Given the description of an element on the screen output the (x, y) to click on. 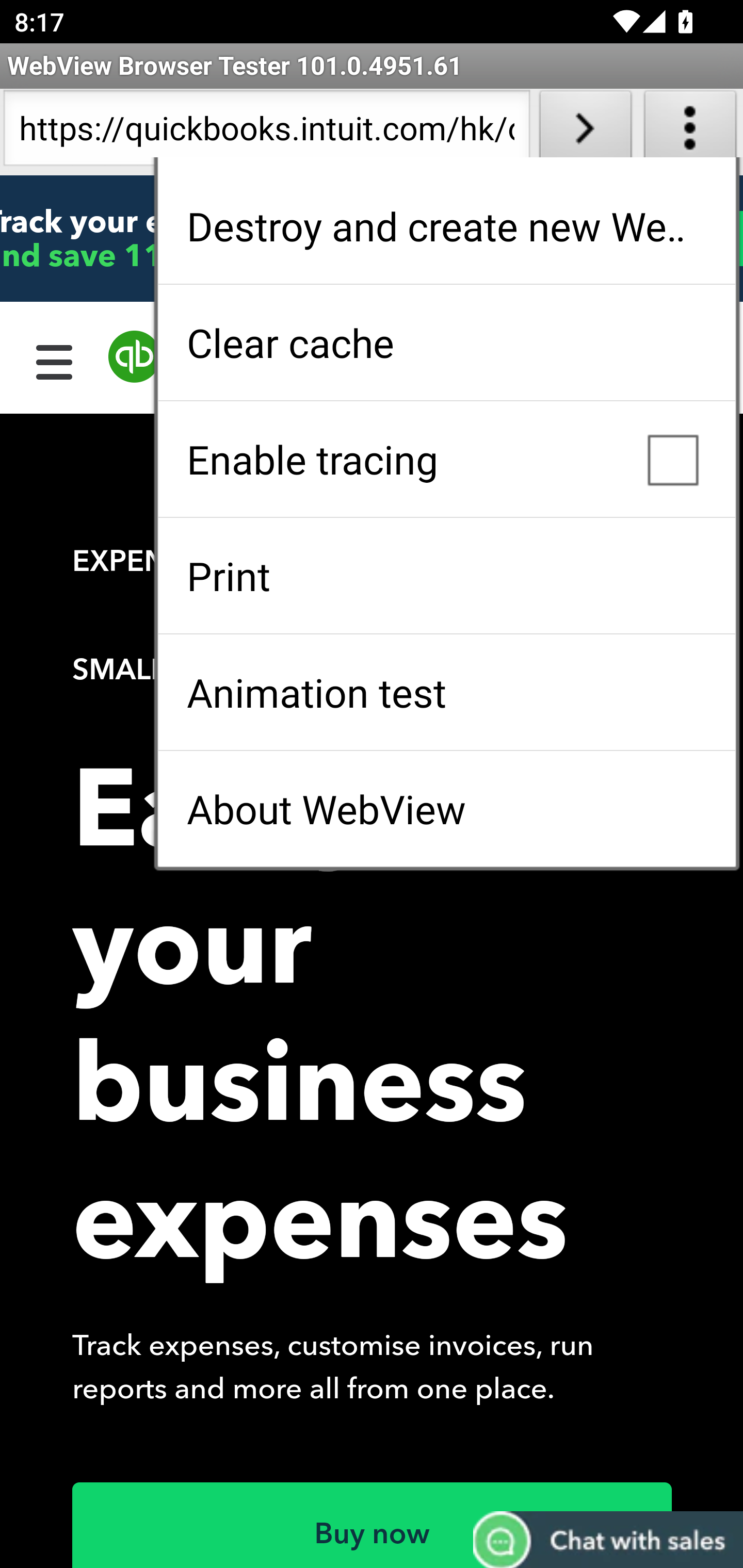
Destroy and create new WebView (446, 225)
Clear cache (446, 342)
Enable tracing (446, 459)
Print (446, 575)
Animation test (446, 692)
About WebView (446, 809)
